Given the description of an element on the screen output the (x, y) to click on. 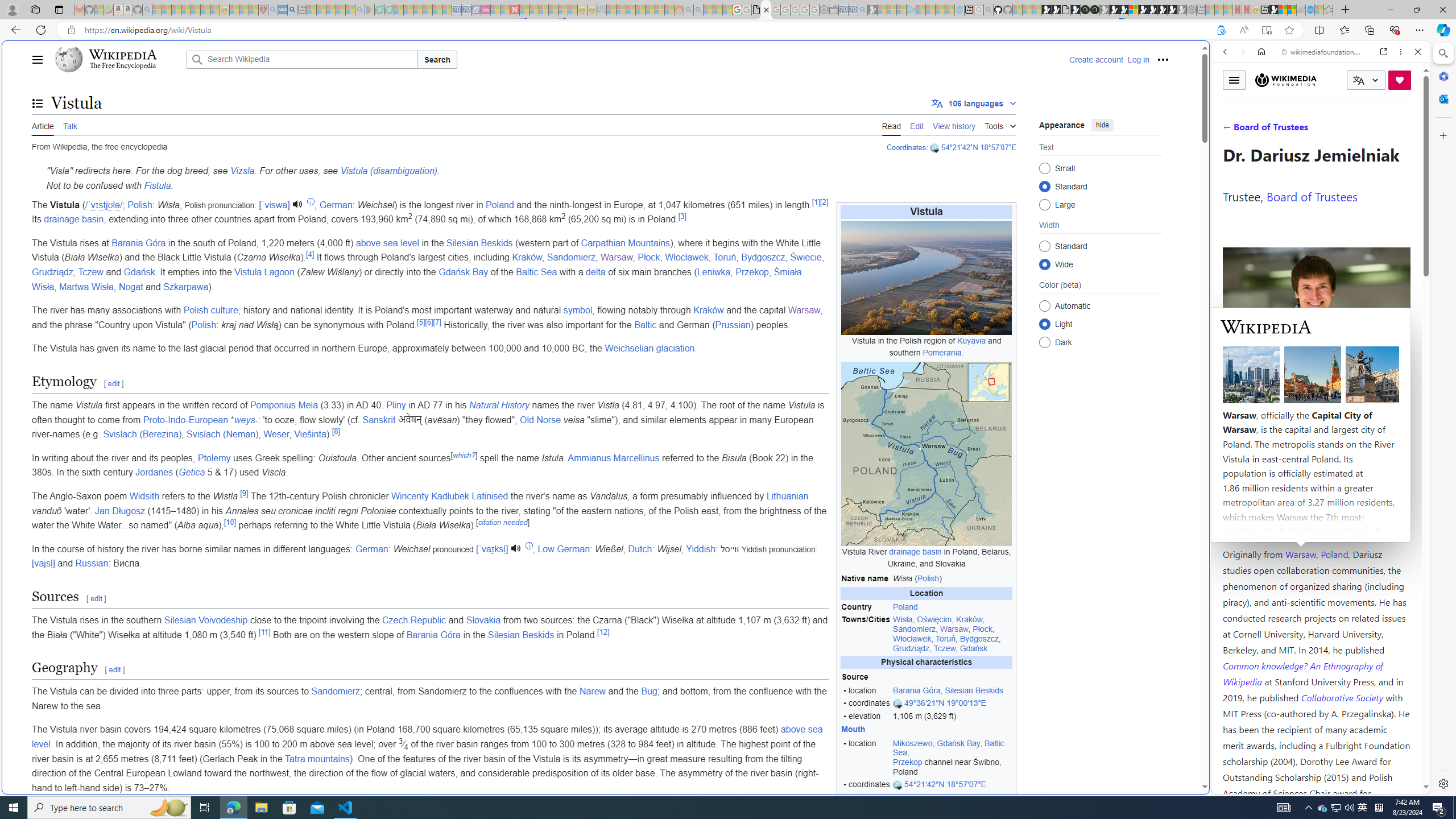
Pomponius Mela (283, 405)
above sea level (427, 736)
Enter Immersive Reader (F9) (1266, 29)
Tatra mountains (316, 758)
Search Filter, Search Tools (1350, 129)
Slovakia (482, 620)
VIDEOS (1300, 130)
Tools (1000, 124)
